Given the description of an element on the screen output the (x, y) to click on. 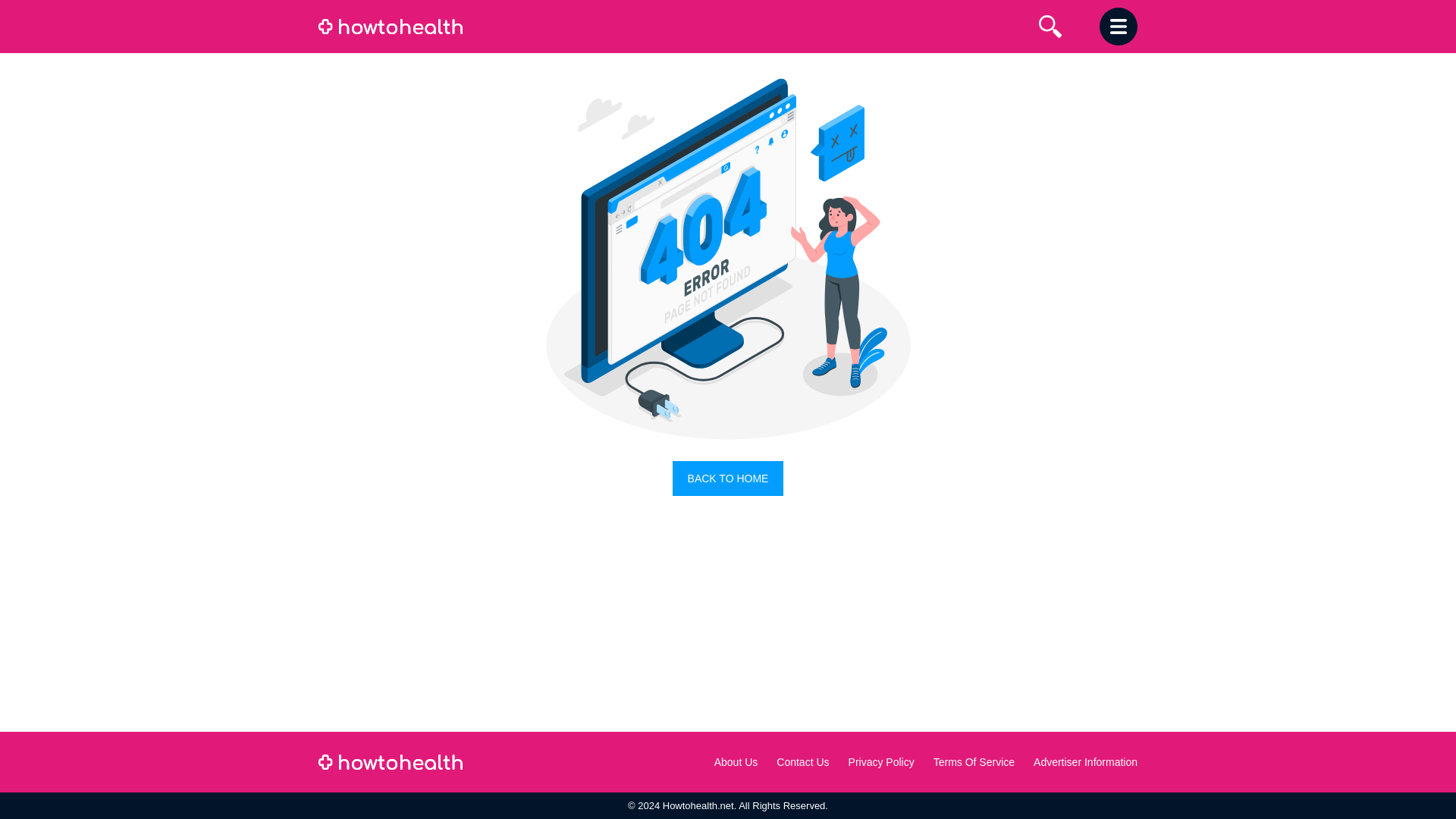
Privacy Policy (881, 761)
About Us (736, 761)
Terms Of Service (973, 761)
Advertiser Information (1085, 761)
BACK TO HOME (728, 478)
Contact Us (802, 761)
